Given the description of an element on the screen output the (x, y) to click on. 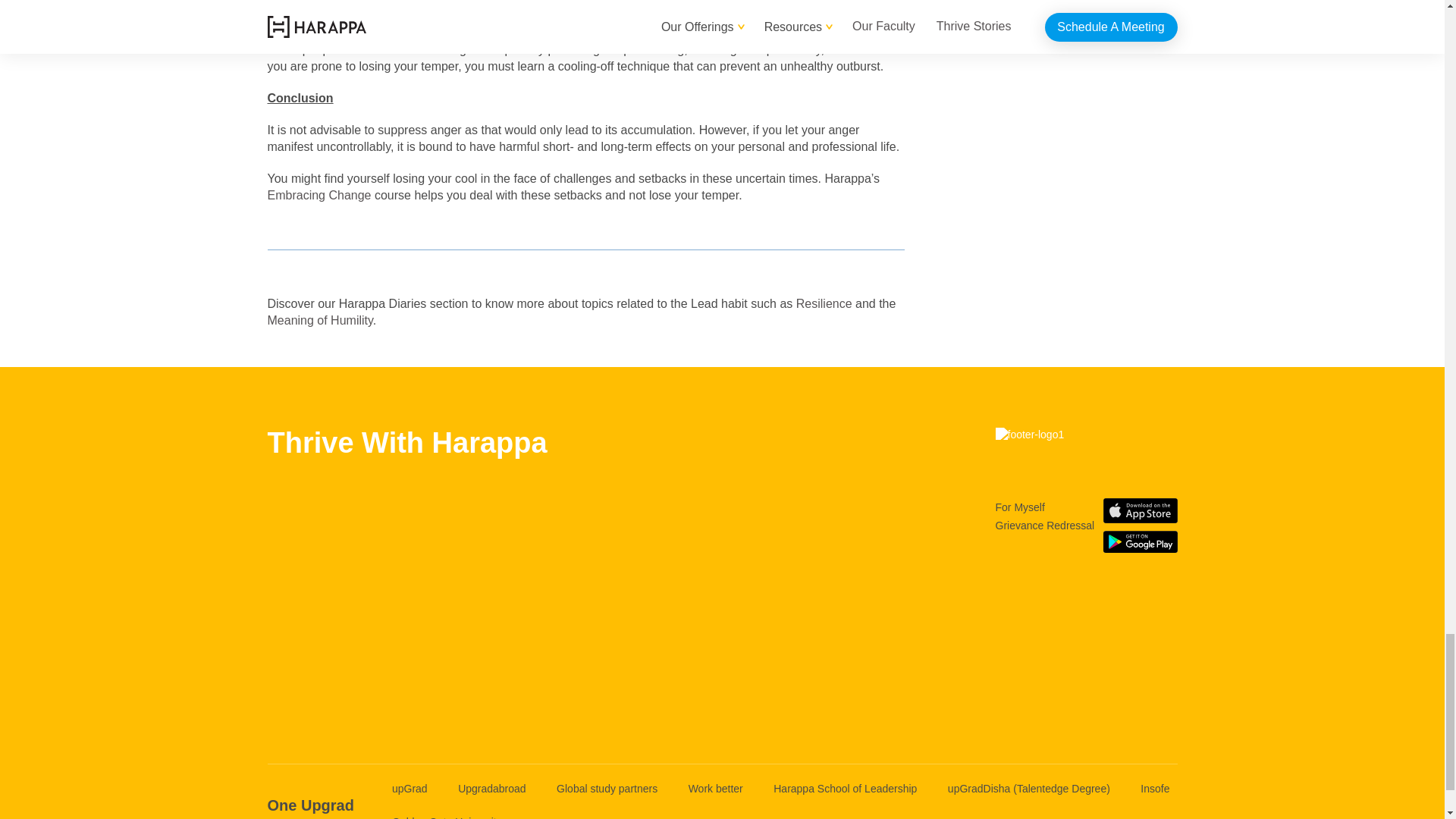
upGrad (409, 788)
Harappa School of Leadership (844, 788)
Embracing Change (318, 195)
Insofe (1154, 788)
Global study partners (606, 788)
Resilience (823, 303)
Meaning of Humility (319, 319)
For Myself (1018, 506)
footer-logo1 (1085, 447)
Golden Gate University (446, 812)
Grievance Redressal (1044, 525)
Work better (716, 788)
Form 0 (406, 594)
Upgradabroad (491, 788)
